Given the description of an element on the screen output the (x, y) to click on. 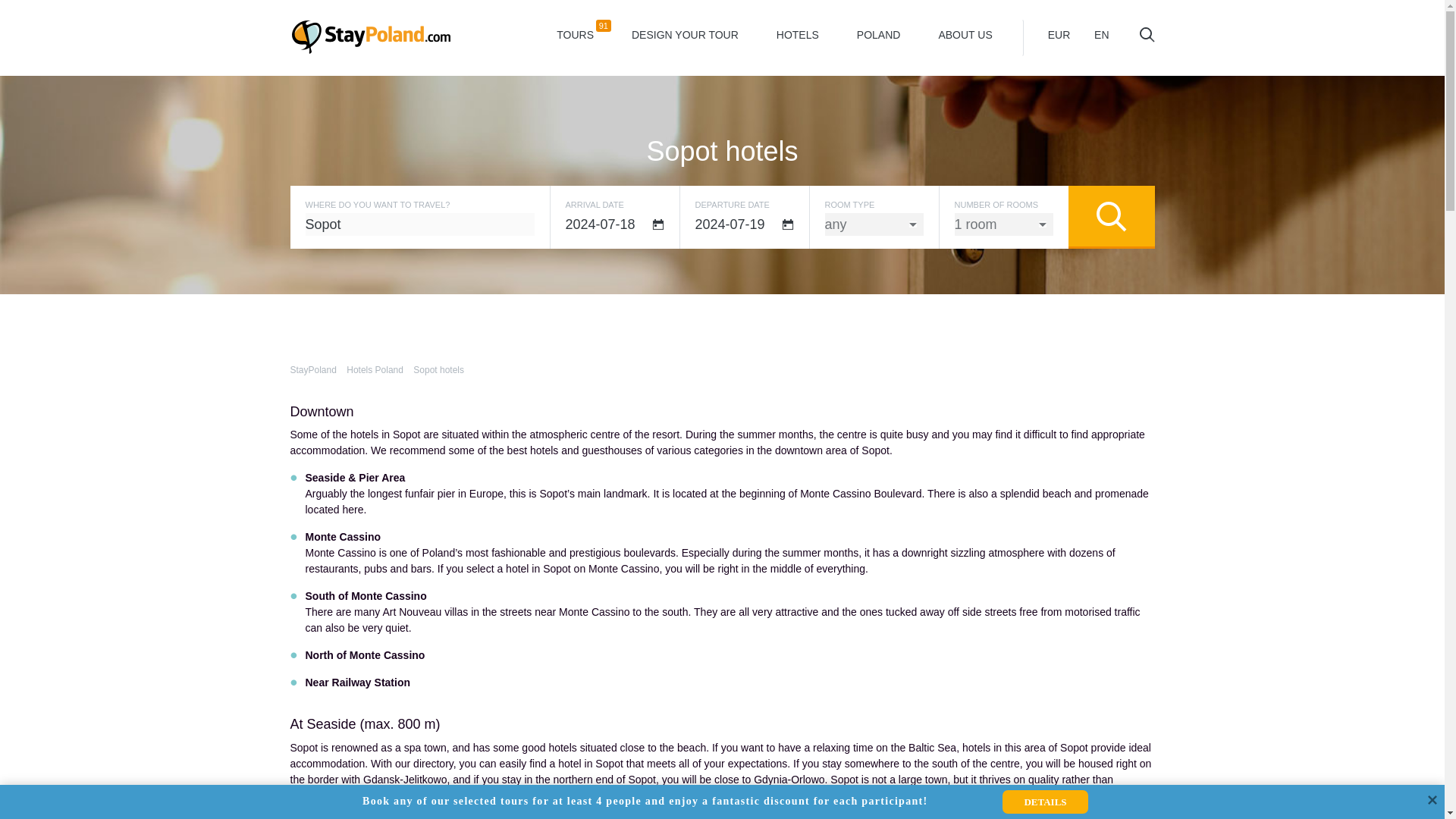
POLAND (878, 34)
StayPoland (312, 369)
StayPoland (370, 36)
DESIGN YOUR TOUR (684, 34)
2024-07-18 (574, 34)
Sopot hotels (614, 223)
ABOUT US (438, 369)
Sopot (964, 34)
Hotels Poland (419, 223)
HOTELS (374, 369)
2024-07-19 (797, 34)
Search hotels (743, 223)
